Given the description of an element on the screen output the (x, y) to click on. 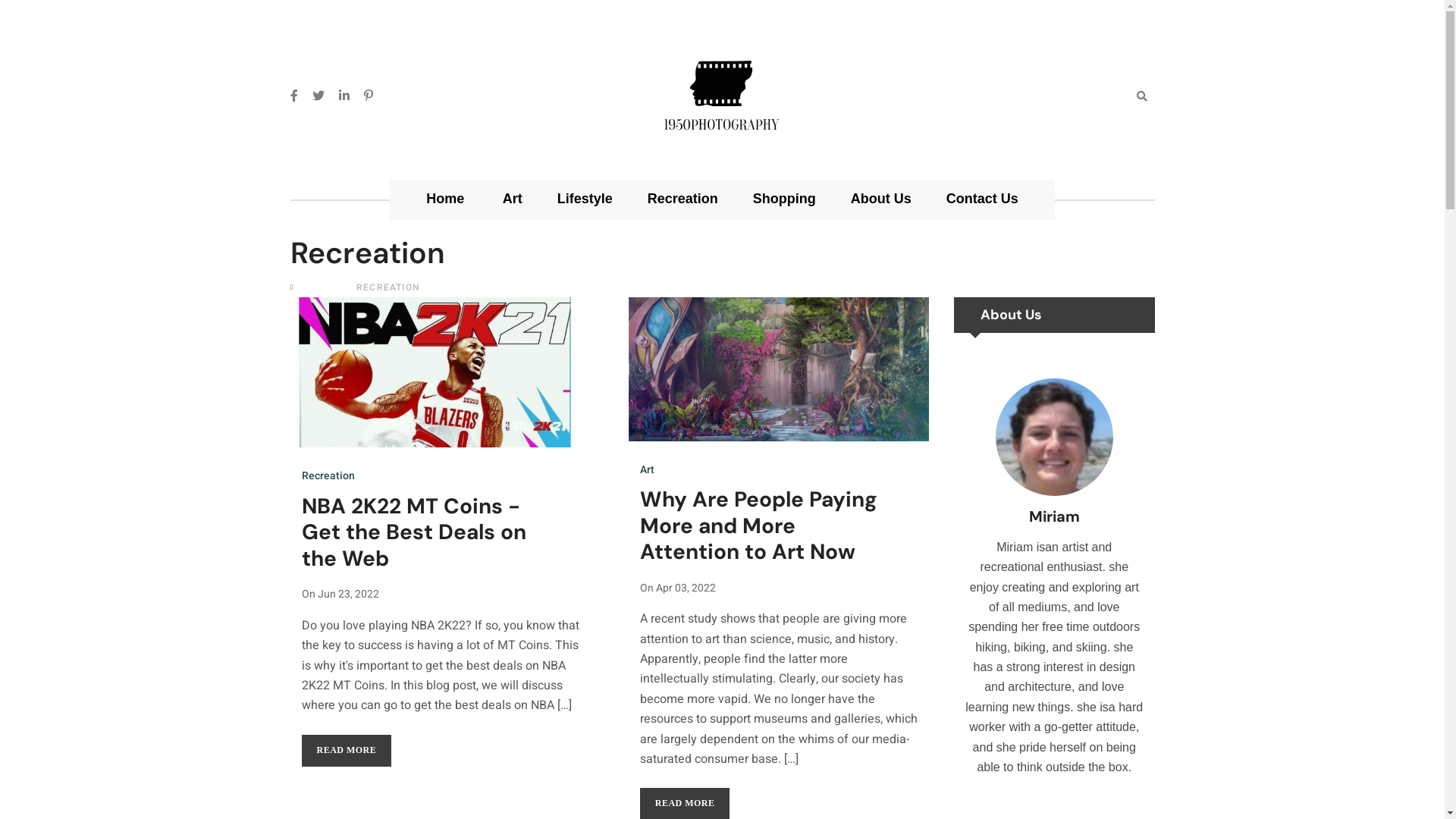
About Us Element type: text (880, 199)
Contact Us Element type: text (981, 199)
Why Are People Paying More and More Attention to Art Now Element type: text (758, 525)
Shopping Element type: text (784, 199)
Art Element type: text (647, 469)
Recreation Element type: text (682, 199)
READ MORE Element type: text (346, 750)
Recreation Element type: text (327, 475)
Art Element type: text (512, 199)
NBA 2K22 MT Coins - Get the Best Deals on the Web Element type: text (413, 532)
HOME Element type: text (313, 288)
Home Element type: text (444, 199)
Lifestyle Element type: text (584, 199)
